Given the description of an element on the screen output the (x, y) to click on. 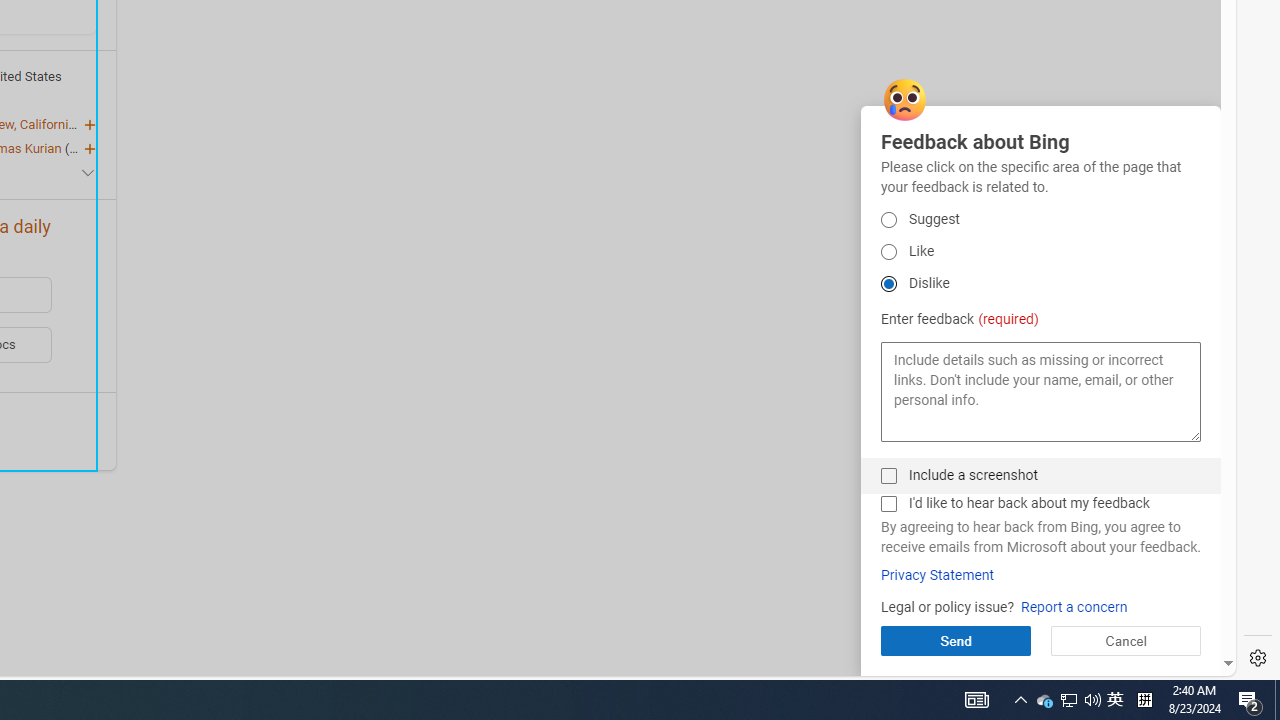
Cancel (1125, 640)
Privacy Statement (937, 575)
I'd like to hear back about my feedback (888, 503)
Like (888, 251)
Suggest (888, 219)
Send (955, 640)
Include a screenshot (888, 475)
Report a concern (1074, 607)
